Given the description of an element on the screen output the (x, y) to click on. 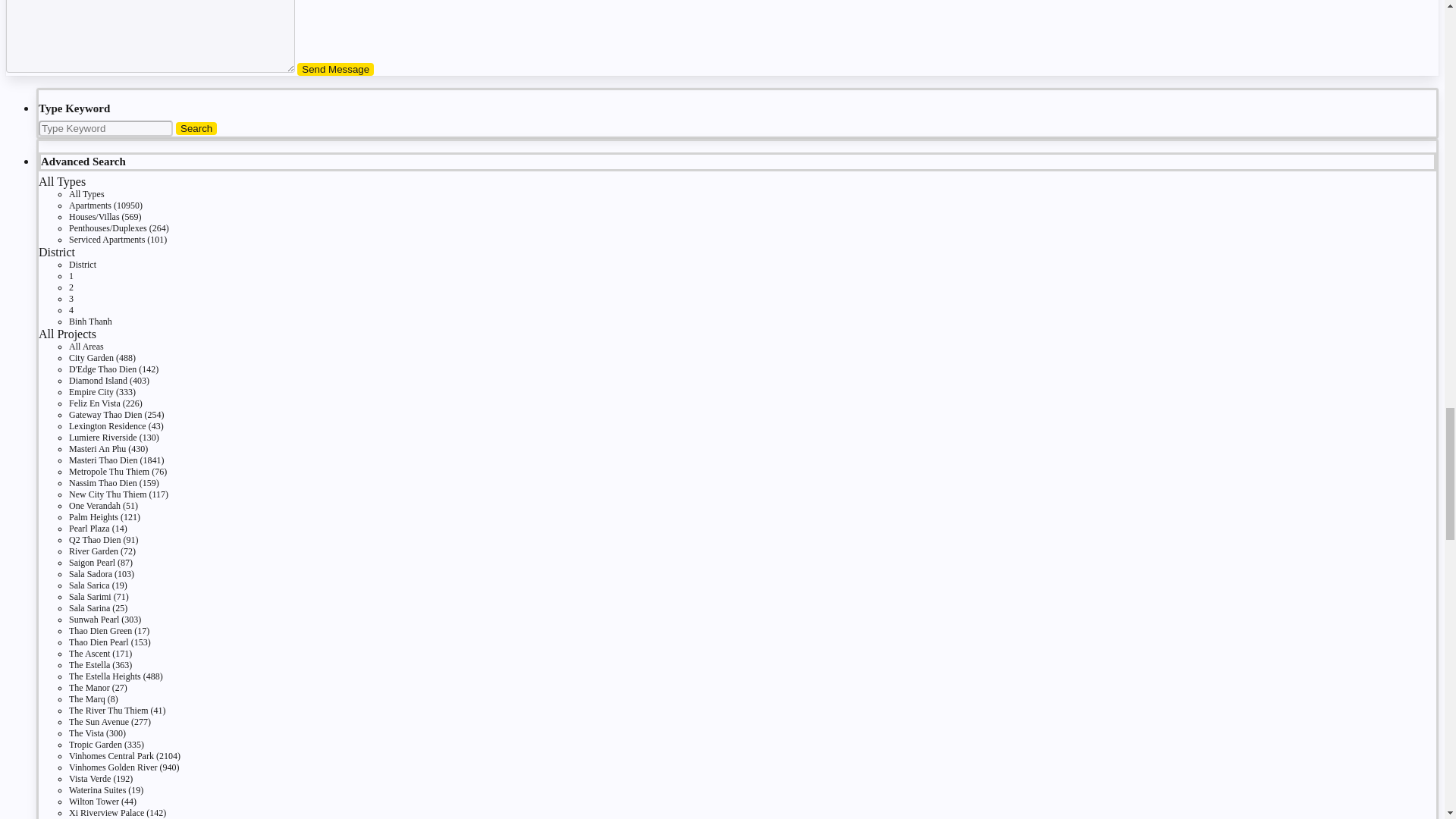
Send Message (335, 69)
Search (196, 128)
Send Message (335, 69)
